Given the description of an element on the screen output the (x, y) to click on. 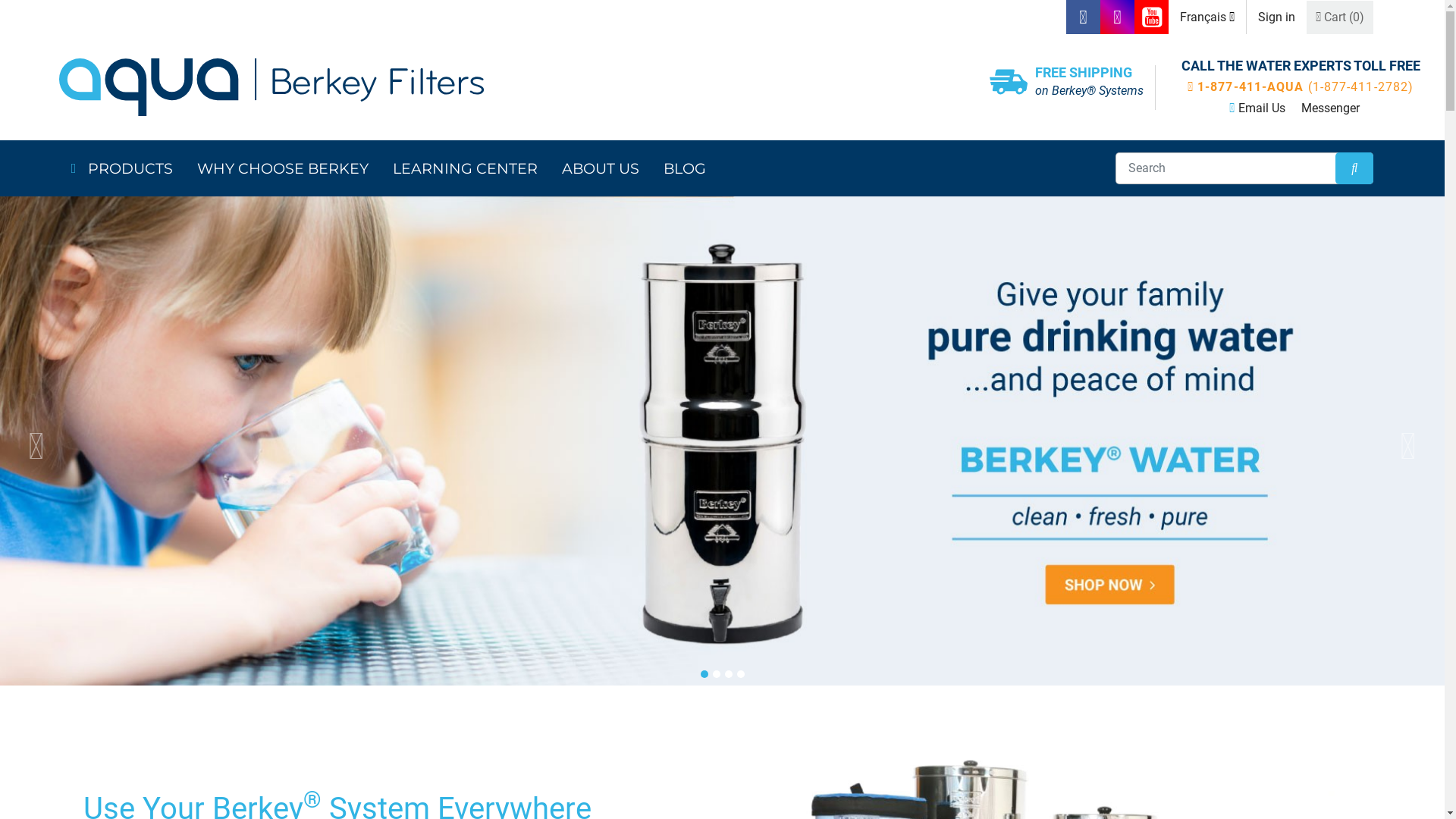
WHY CHOOSE BERKEY Element type: text (282, 168)
Email Us Element type: text (1261, 107)
Aqua Berkey Filters Element type: hover (488, 87)
Messenger Element type: text (1330, 107)
Next Element type: text (1408, 446)
BLOG Element type: text (684, 168)
Previous Element type: text (36, 446)
PRODUCTS Element type: text (129, 168)
ABOUT US Element type: text (600, 168)
LEARNING CENTER Element type: text (464, 168)
Sign in Element type: text (1276, 16)
1-877-411-AQUA (1-877-411-2782) Element type: text (1300, 86)
